Given the description of an element on the screen output the (x, y) to click on. 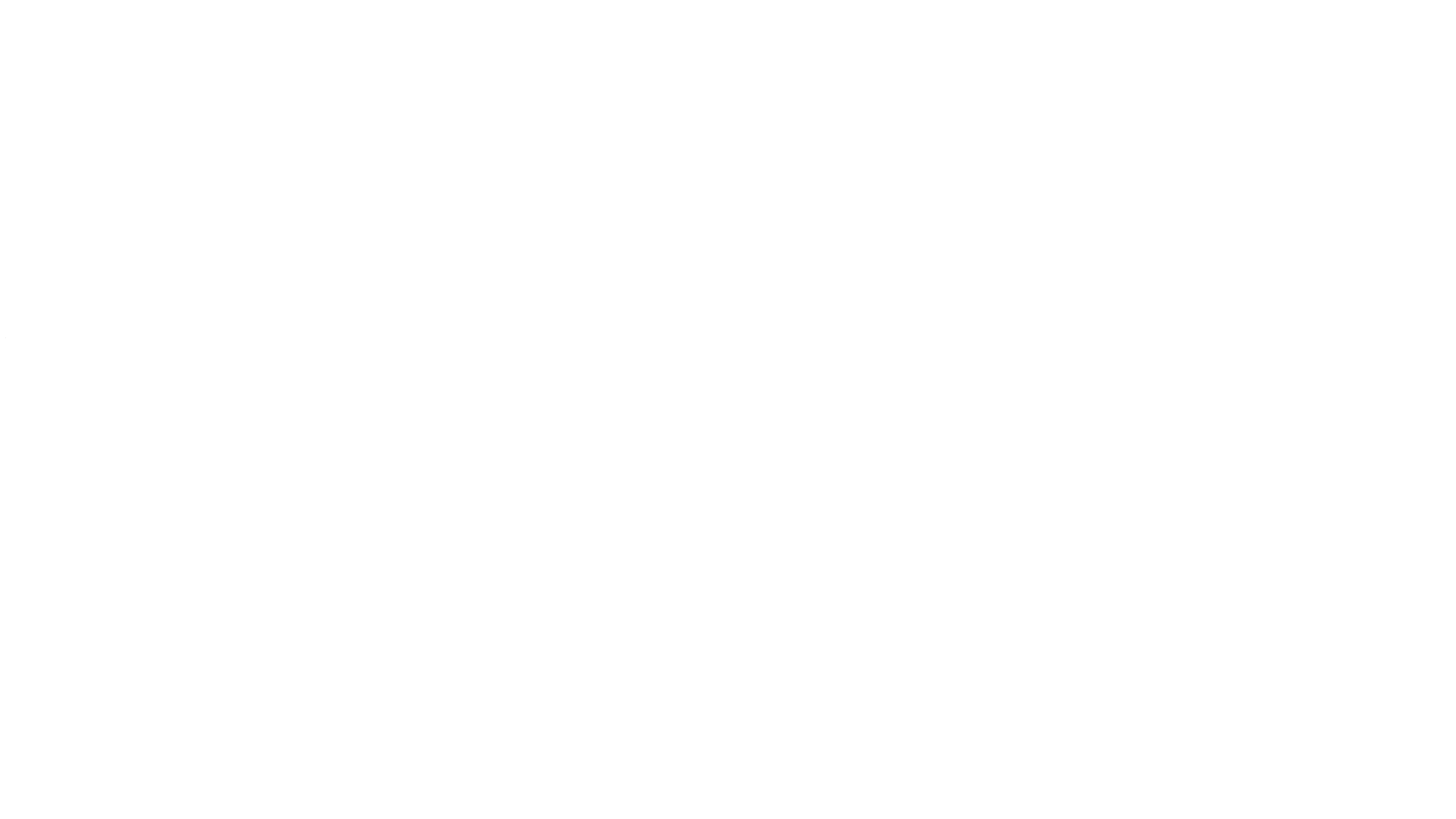
Categories Element type: text (64, 82)
Alarmsysteem Accu Element type: text (66, 348)
Gigaset Smart Home Alarmsysteem Element type: text (109, 385)
Chuango G5+ Alarmsysteem Element type: text (86, 361)
Voordat je een alarmsysteem aanschaft Element type: text (117, 324)
deurbel met camera, glasbreuksensoren, Element type: text (552, 512)
Home Element type: text (20, 82)
Beste Draadloze Alarmsysteem Voor Je Huis Element type: text (121, 288)
Somfy Home Alarm + Indoor Camera Element type: text (114, 397)
Somfy Protect Home Alarm Element type: text (91, 312)
Jablotron Alarmsysteem Handleiding Element type: text (98, 336)
Alarmsysteem Met Sirene Element type: text (86, 373)
